Given the description of an element on the screen output the (x, y) to click on. 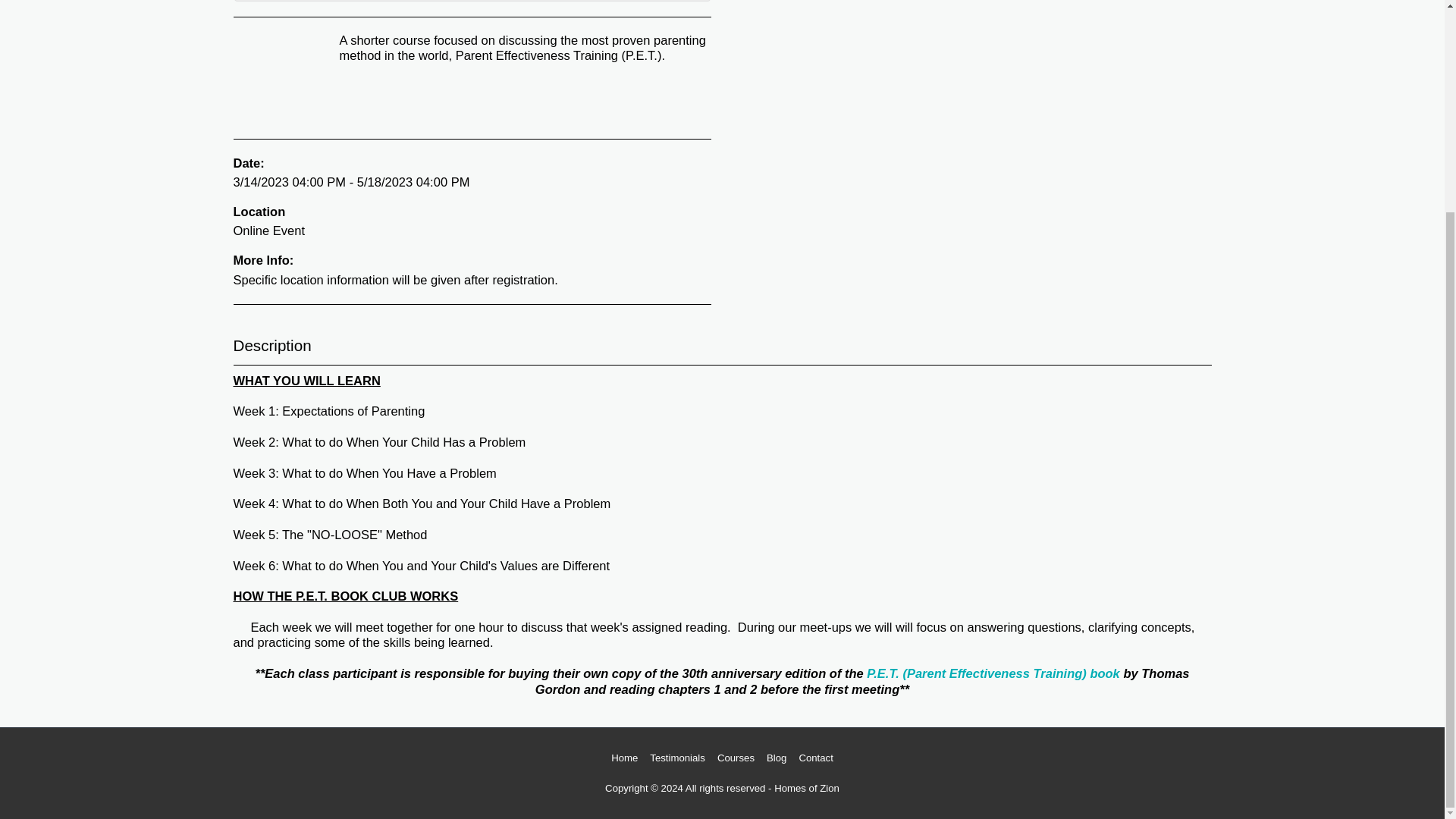
Testimonials (676, 758)
Contact (814, 758)
Home (624, 758)
Blog (776, 758)
Courses (735, 758)
